Given the description of an element on the screen output the (x, y) to click on. 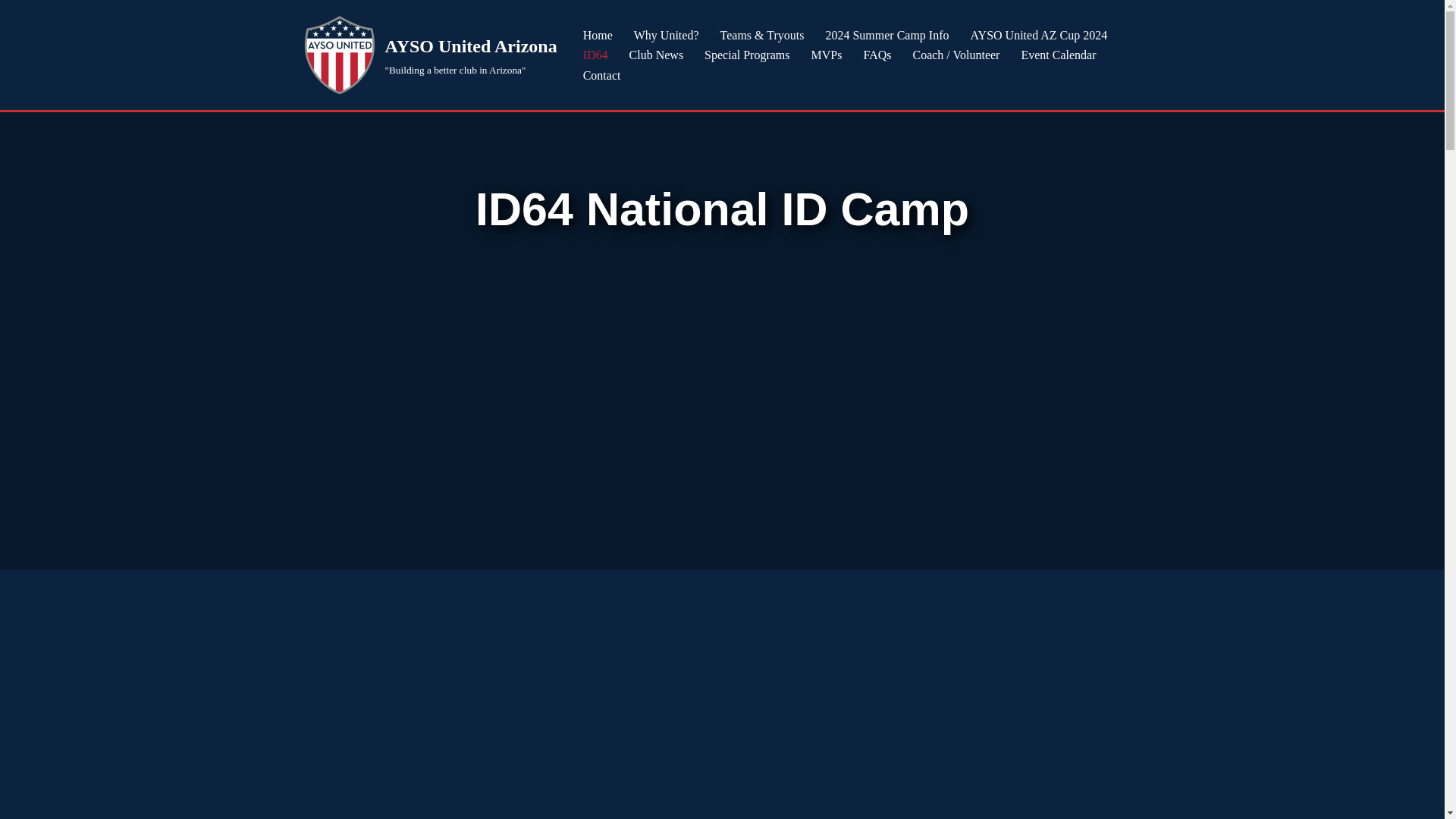
Home (597, 35)
Event Calendar (1058, 55)
MVPs (826, 55)
ID64 (595, 55)
2024 Summer Camp Info (887, 35)
Contact (602, 75)
AYSO United AZ Cup 2024 (1039, 35)
Special Programs (746, 55)
FAQs (877, 55)
